Given the description of an element on the screen output the (x, y) to click on. 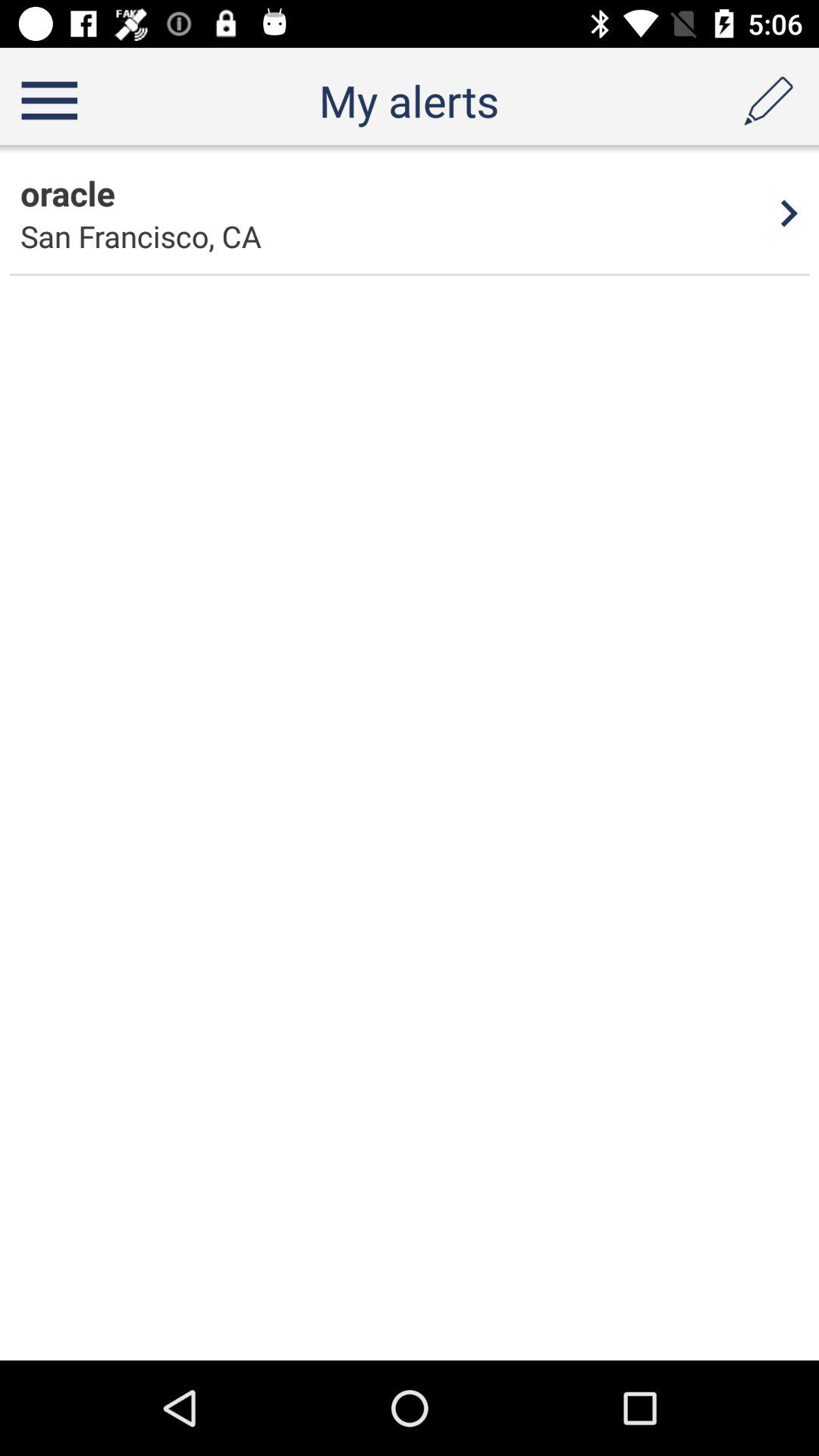
open the app below the 0 app (67, 193)
